Given the description of an element on the screen output the (x, y) to click on. 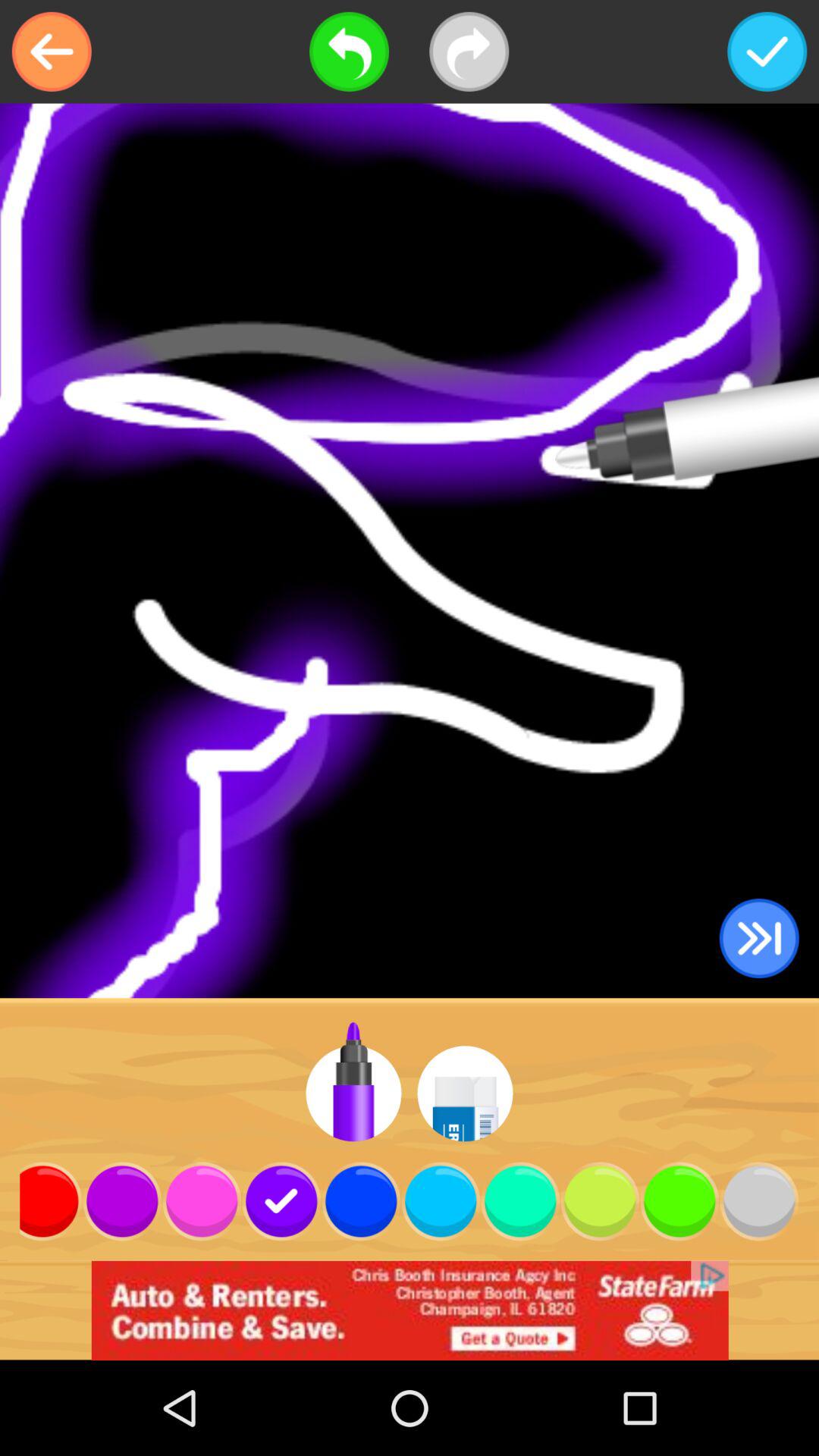
complete save done check mark (767, 51)
